Given the description of an element on the screen output the (x, y) to click on. 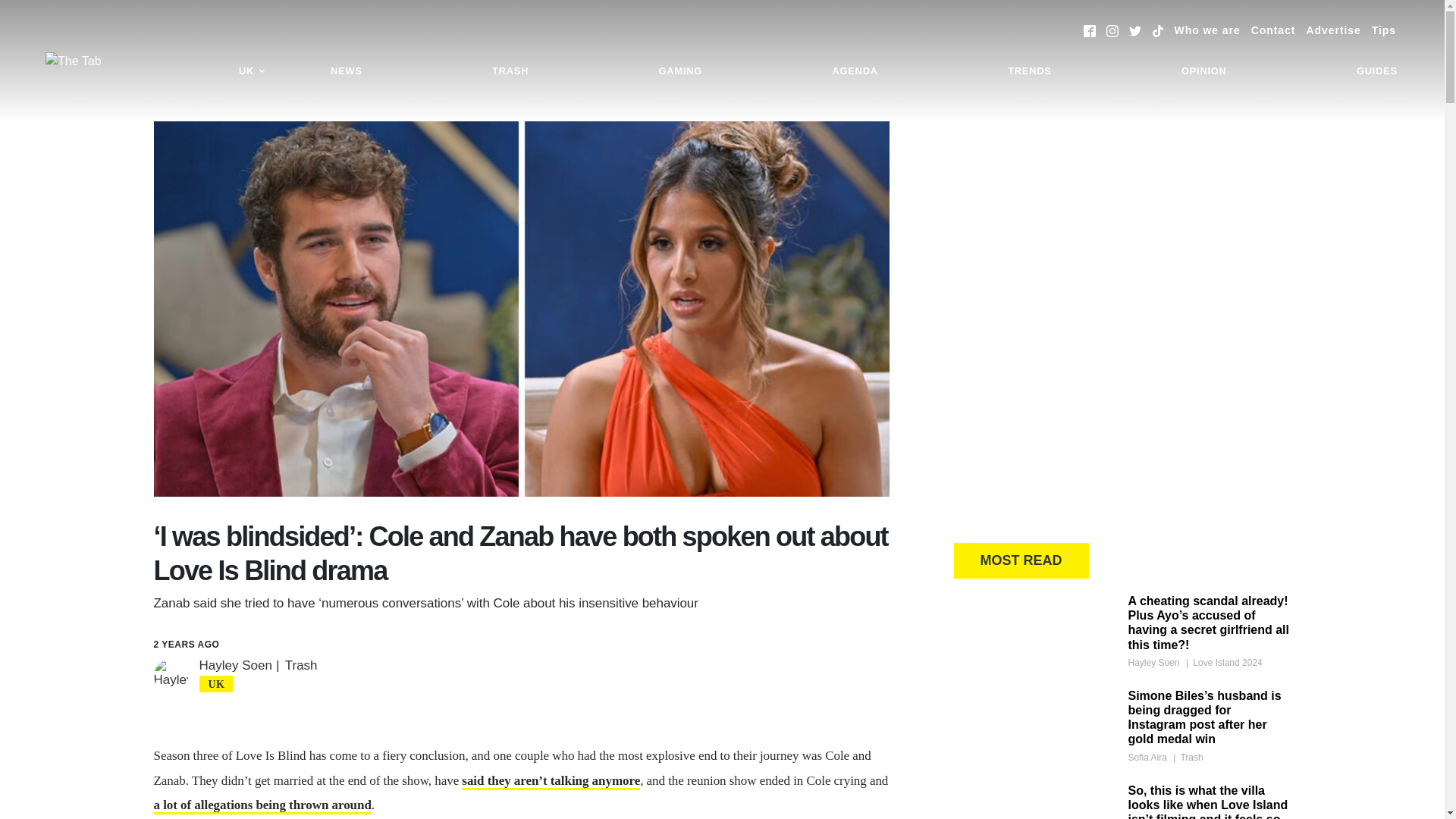
GAMING (680, 71)
Advertise (1332, 29)
GUIDES (1377, 71)
TRENDS (1028, 71)
AGENDA (854, 71)
Tips (1383, 29)
UK (252, 71)
TRASH (510, 71)
Contact (1272, 29)
Who we are (1207, 29)
